Given the description of an element on the screen output the (x, y) to click on. 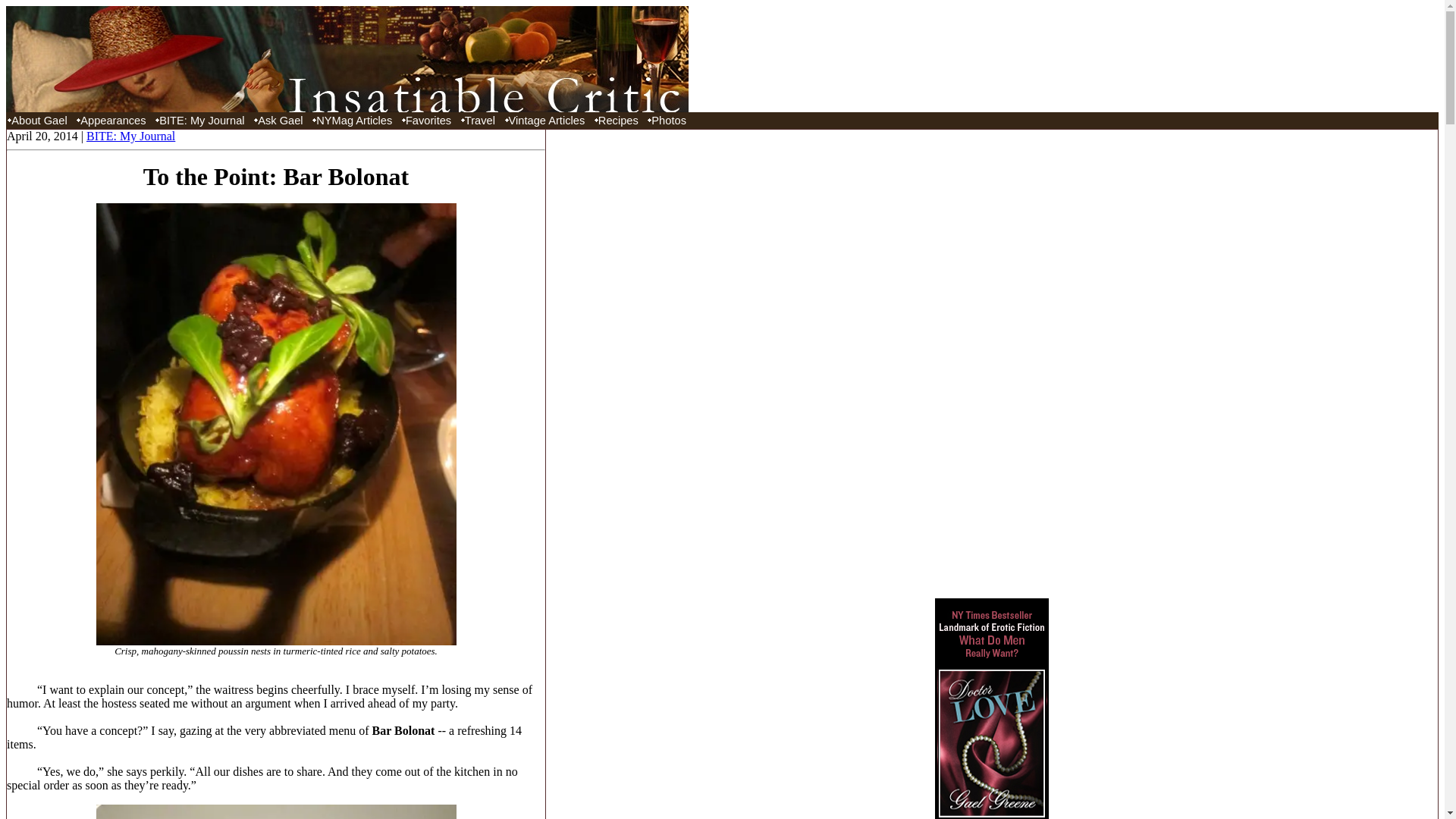
Recipes (618, 120)
NYMag Articles (353, 120)
About Gael (39, 120)
Favorites (428, 120)
Appearances (112, 120)
Travel (479, 120)
BITE: My Journal (201, 120)
Ask Gael (280, 120)
About Gael (39, 120)
Appearances (112, 120)
